Given the description of an element on the screen output the (x, y) to click on. 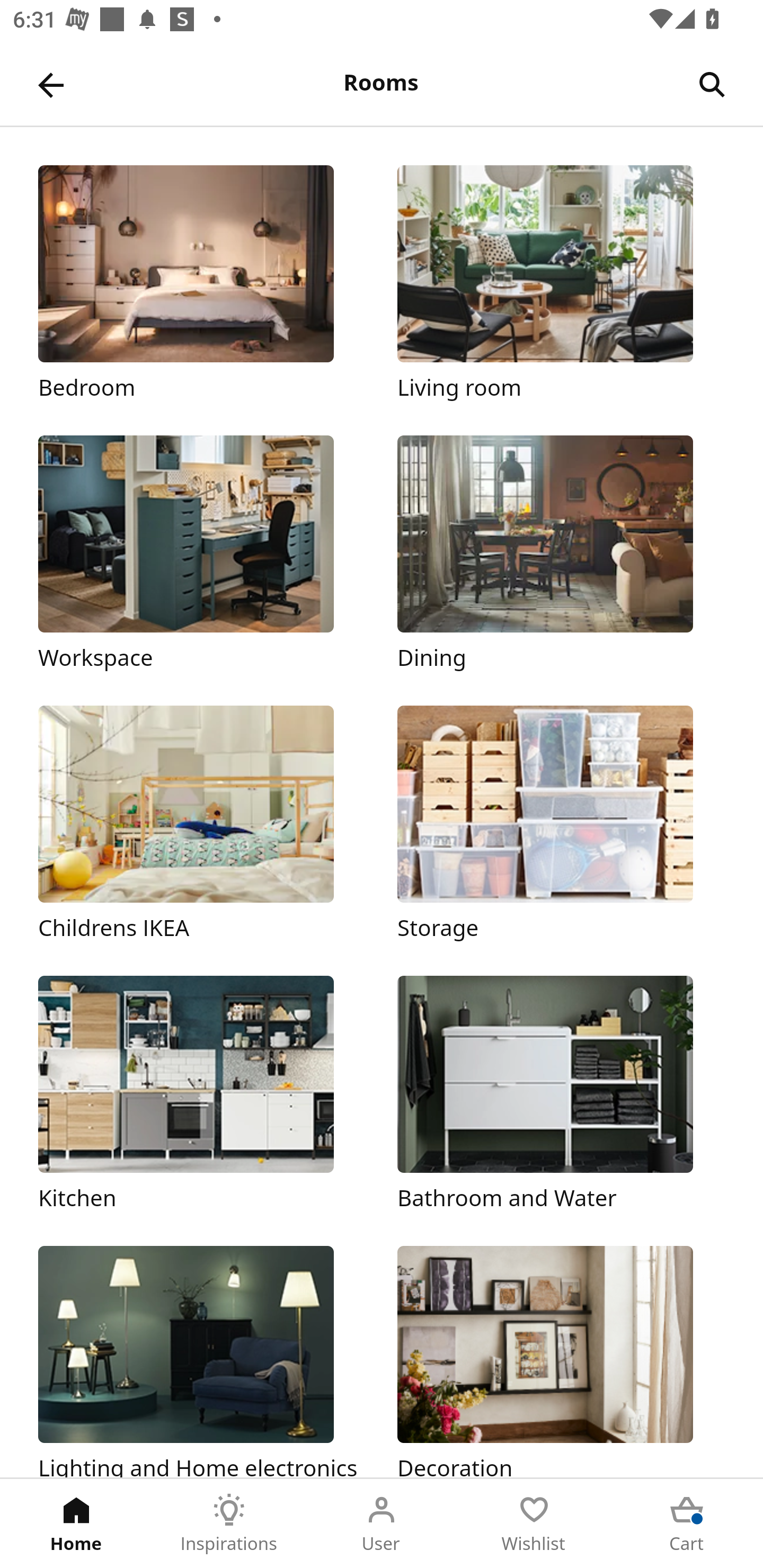
Bedroom (201, 283)
Living room (560, 283)
Workspace (201, 554)
Dining (560, 554)
Childrens IKEA (201, 824)
Storage (560, 824)
Kitchen (201, 1094)
Bathroom and Water (560, 1094)
Lighting and Home electronics (201, 1361)
Decoration (560, 1361)
Home
Tab 1 of 5 (76, 1522)
Inspirations
Tab 2 of 5 (228, 1522)
User
Tab 3 of 5 (381, 1522)
Wishlist
Tab 4 of 5 (533, 1522)
Cart
Tab 5 of 5 (686, 1522)
